Given the description of an element on the screen output the (x, y) to click on. 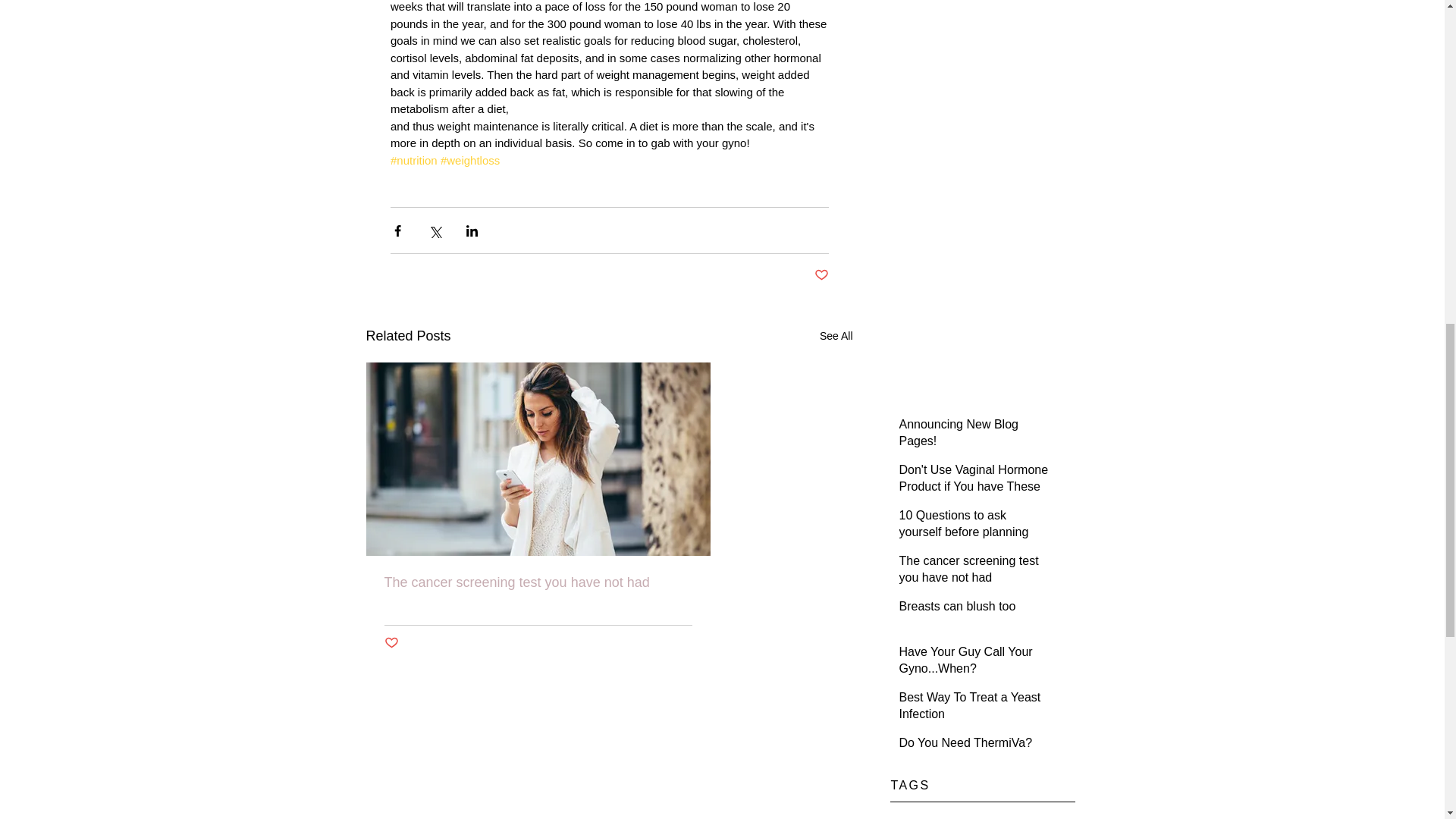
Post not marked as liked (390, 643)
Announcing New Blog Pages! (975, 436)
Post not marked as liked (820, 275)
Breasts can blush too (975, 609)
Don't Use Vaginal Hormone Product if You have These Things (975, 489)
The cancer screening test you have not had (537, 582)
The cancer screening test you have not had (975, 572)
See All (836, 336)
